Given the description of an element on the screen output the (x, y) to click on. 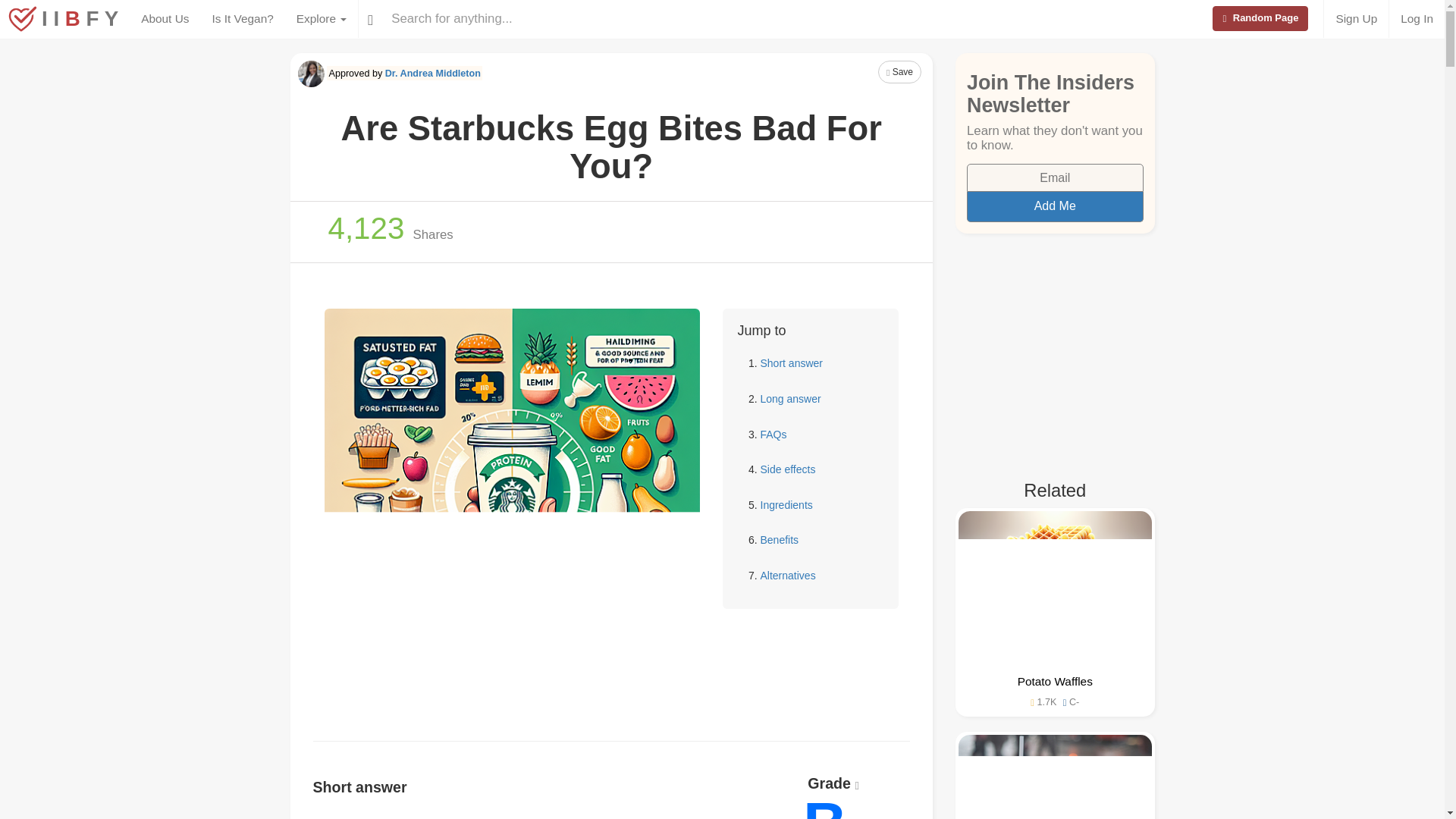
Sign Up (1356, 18)
Save (899, 71)
Explore (321, 18)
Ingredients (786, 504)
Is It Vegan? (241, 18)
Benefits (778, 539)
About Us (164, 18)
Long answer (790, 398)
I I B F Y (64, 11)
Short answer (791, 363)
